Given the description of an element on the screen output the (x, y) to click on. 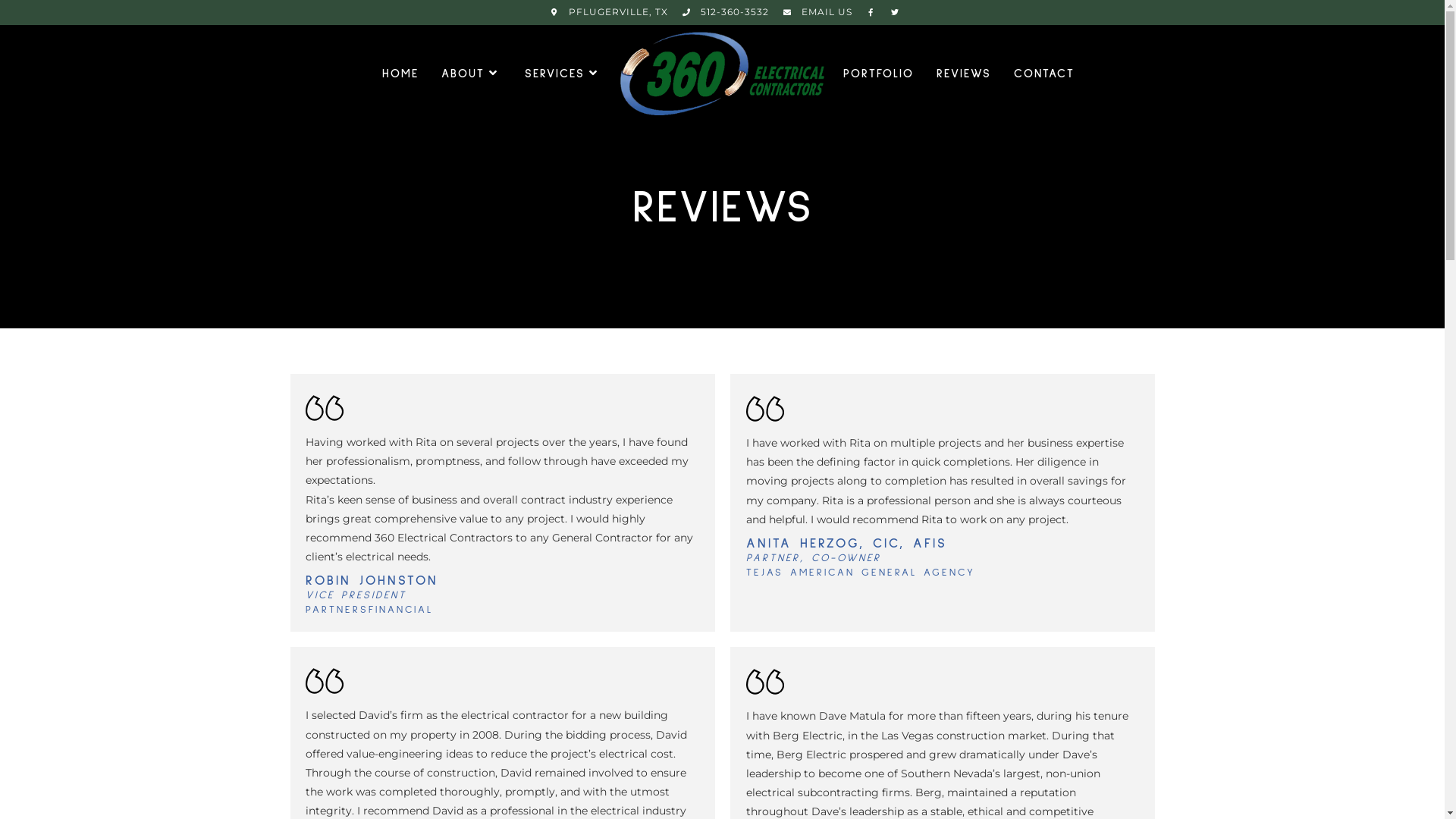
PORTFOLIO Element type: text (877, 73)
HOME Element type: text (399, 73)
SERVICES Element type: text (562, 73)
CONTACT Element type: text (1043, 73)
EMAIL US Element type: text (811, 11)
REVIEWS Element type: text (963, 73)
ABOUT Element type: text (470, 73)
